Given the description of an element on the screen output the (x, y) to click on. 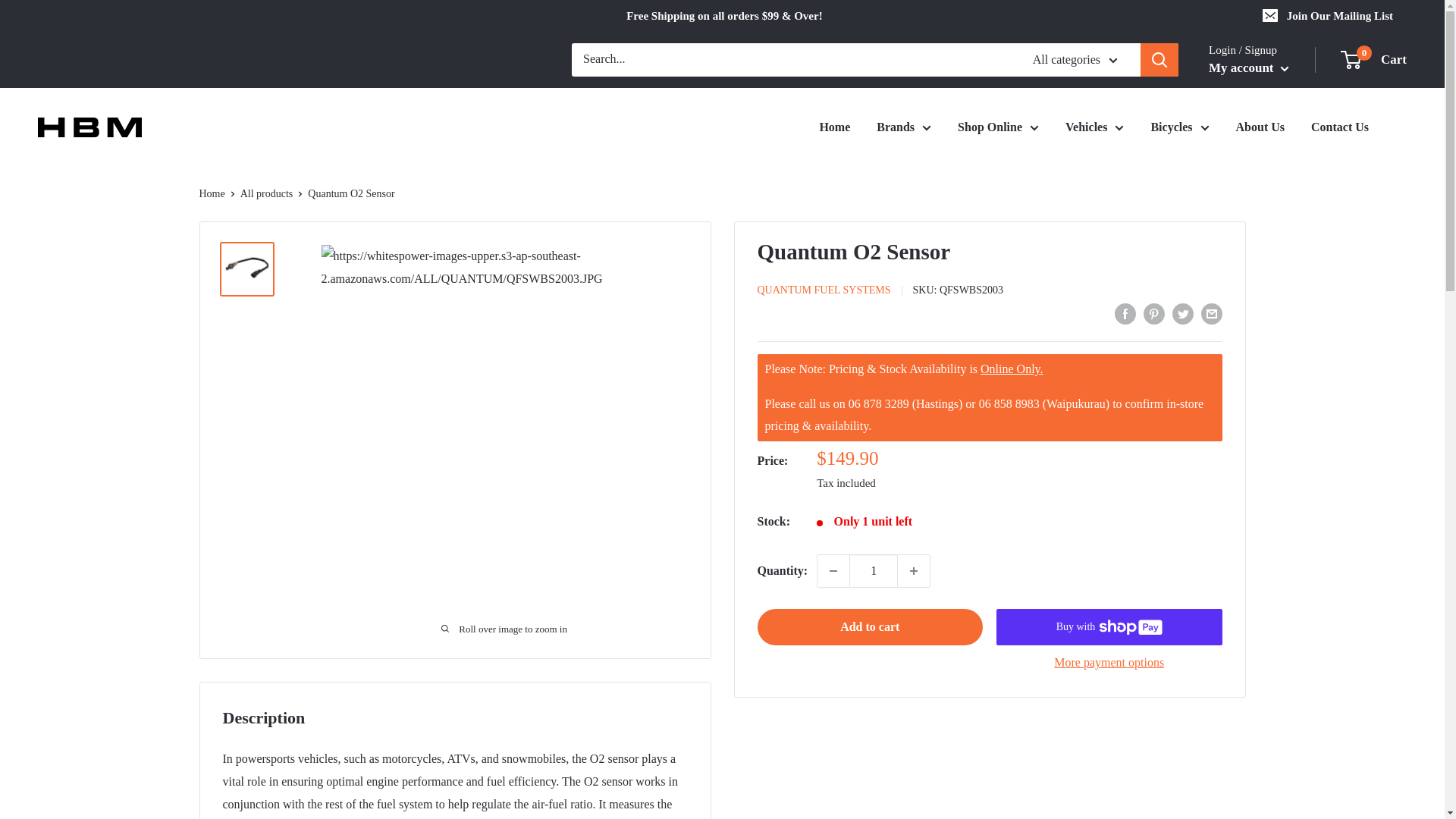
My account (1248, 68)
Increase quantity by 1 (914, 571)
Decrease quantity by 1 (1374, 59)
Join Our Mailing List (832, 571)
1 (1328, 15)
